Given the description of an element on the screen output the (x, y) to click on. 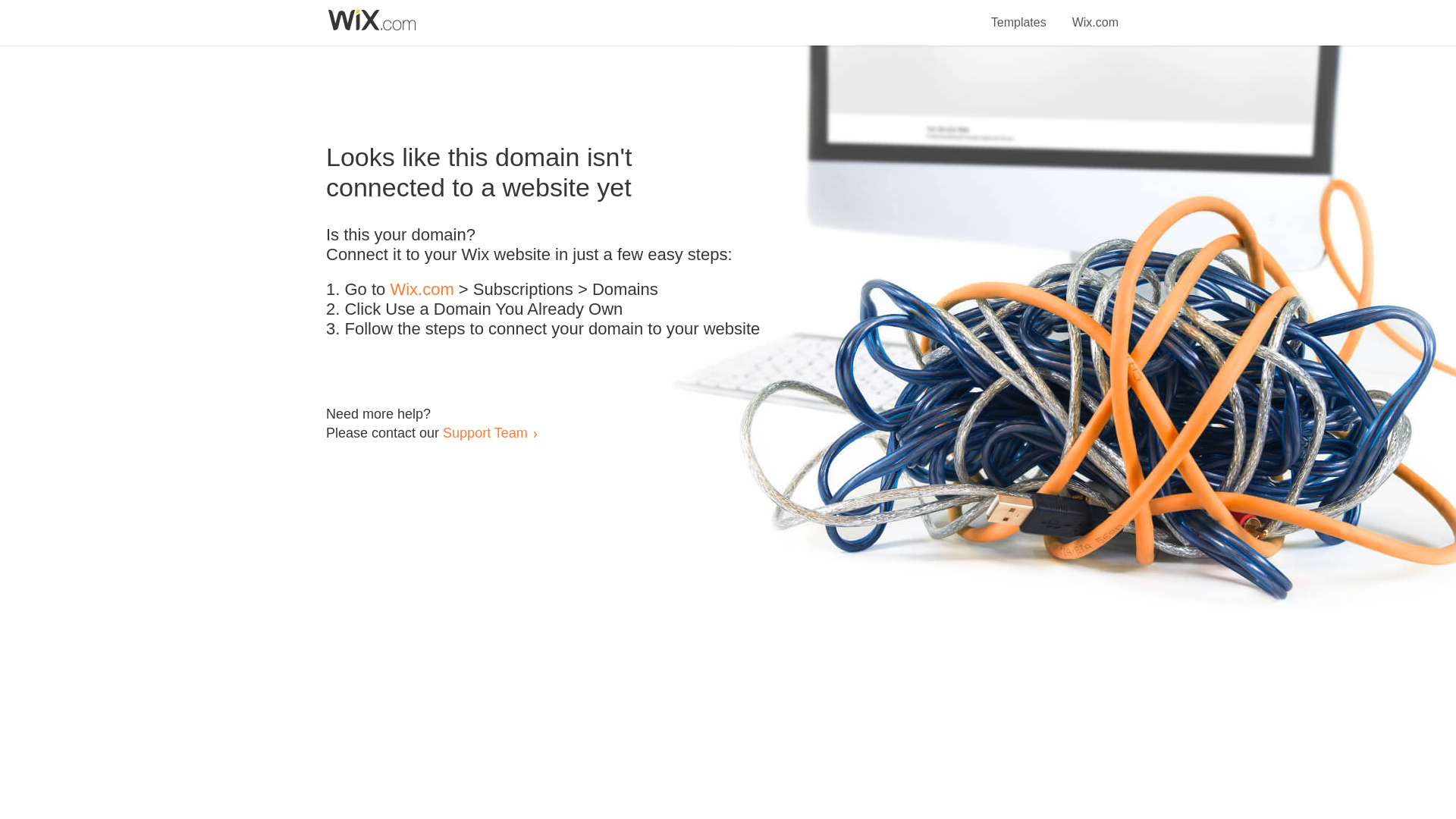
Wix.com (421, 289)
Support Team (484, 432)
Templates (1018, 14)
Wix.com (1095, 14)
